Given the description of an element on the screen output the (x, y) to click on. 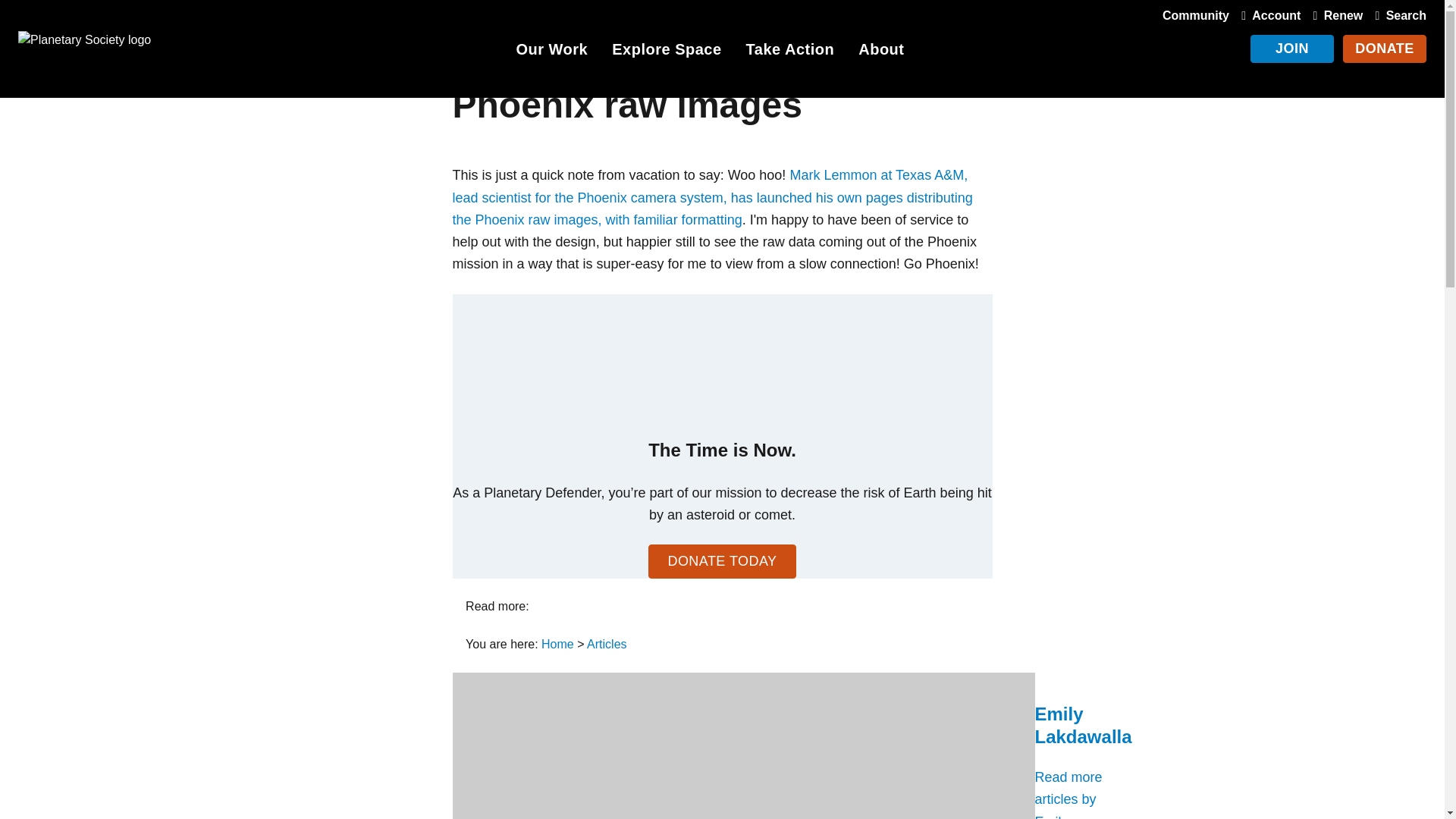
Account (1267, 15)
JOIN (1291, 49)
About (881, 51)
Search (1397, 15)
Explore Space (665, 51)
Community (1194, 15)
Take Action (789, 51)
Renew (1334, 15)
DONATE (1384, 49)
Our Work (551, 51)
